Given the description of an element on the screen output the (x, y) to click on. 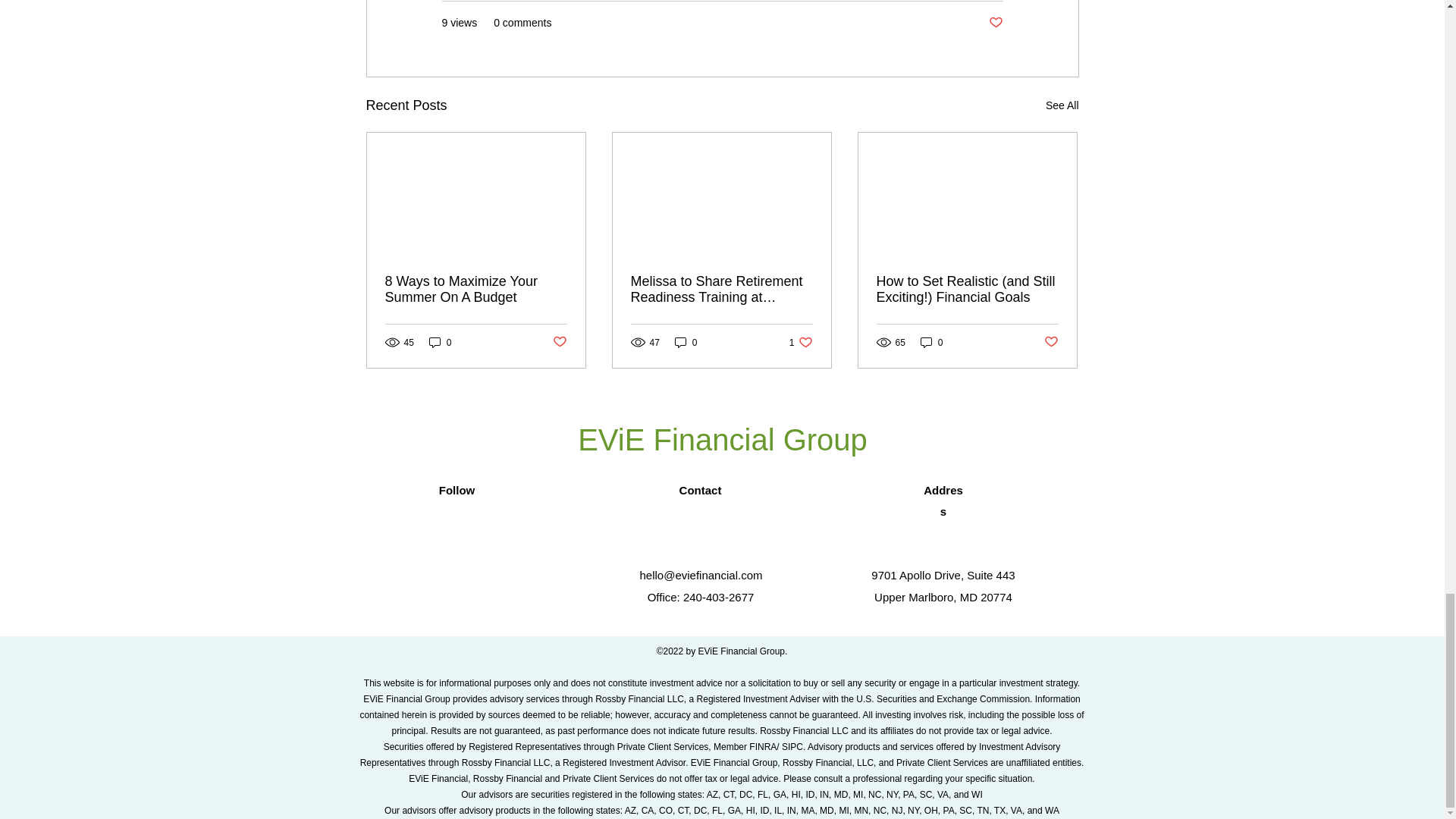
0 (685, 341)
8 Ways to Maximize Your Summer On A Budget (476, 289)
See All (1061, 106)
Post not marked as liked (995, 23)
Post not marked as liked (558, 342)
0 (440, 341)
